Given the description of an element on the screen output the (x, y) to click on. 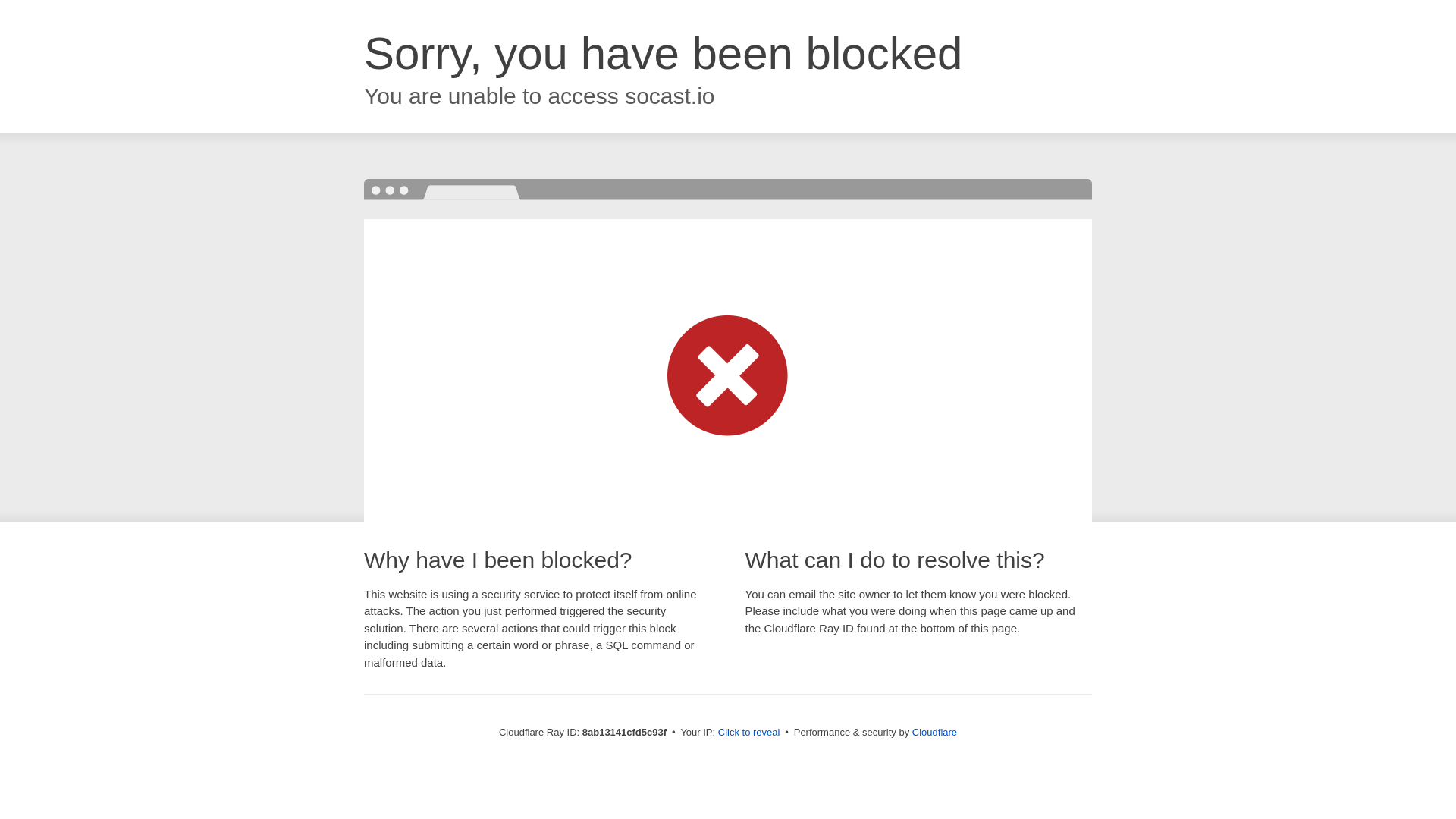
Cloudflare (934, 731)
Click to reveal (748, 732)
